Given the description of an element on the screen output the (x, y) to click on. 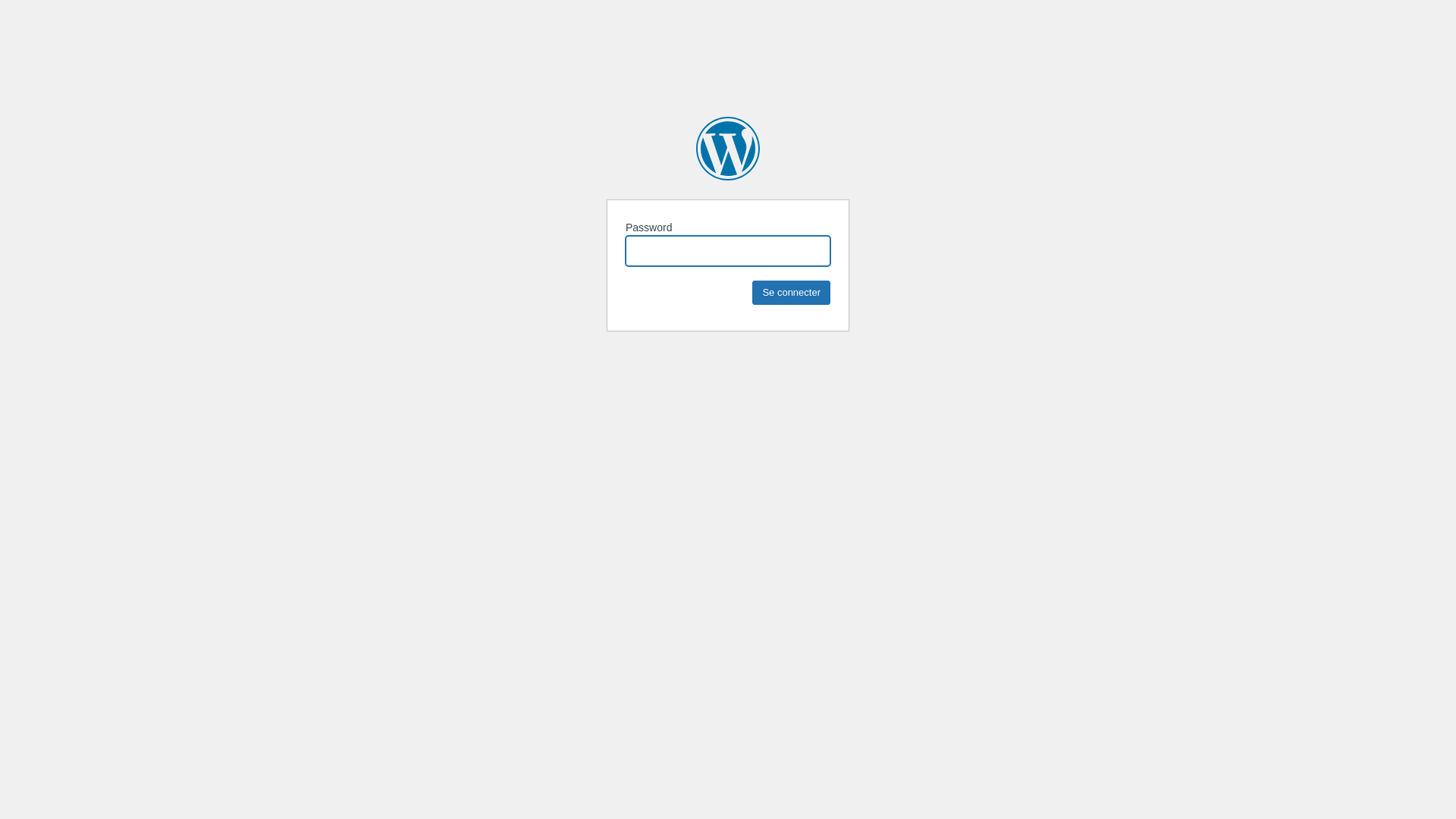
Se connecter Element type: text (791, 292)
FGTB Bruxelles 2020 Element type: text (727, 148)
